Given the description of an element on the screen output the (x, y) to click on. 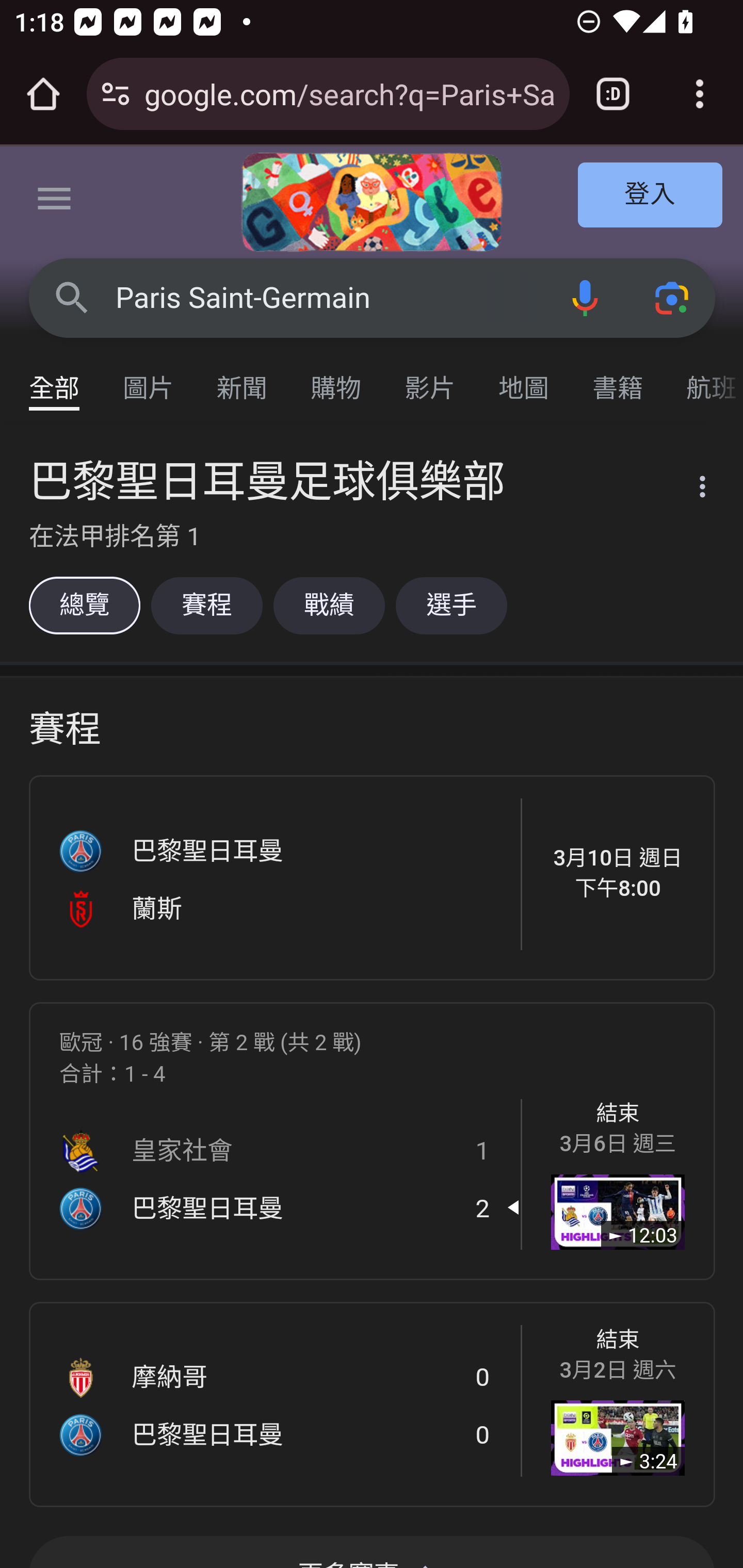
Open the home page (43, 93)
Connection is secure (115, 93)
Switch or close tabs (612, 93)
Customize and control Google Chrome (699, 93)
2024 年國際婦女節 (371, 202)
主選單 (54, 202)
登入 (650, 195)
Google 搜尋 (71, 296)
使用相機或相片搜尋 (672, 296)
Paris Saint-Germain (328, 297)
圖片 (148, 378)
新聞 (242, 378)
購物 (336, 378)
影片 (430, 378)
地圖 (524, 378)
書籍 (618, 378)
航班 (703, 378)
更多選項 (690, 489)
總覽 (83, 605)
賽程 (206, 605)
戰績 (329, 605)
選手 (451, 605)
